Given the description of an element on the screen output the (x, y) to click on. 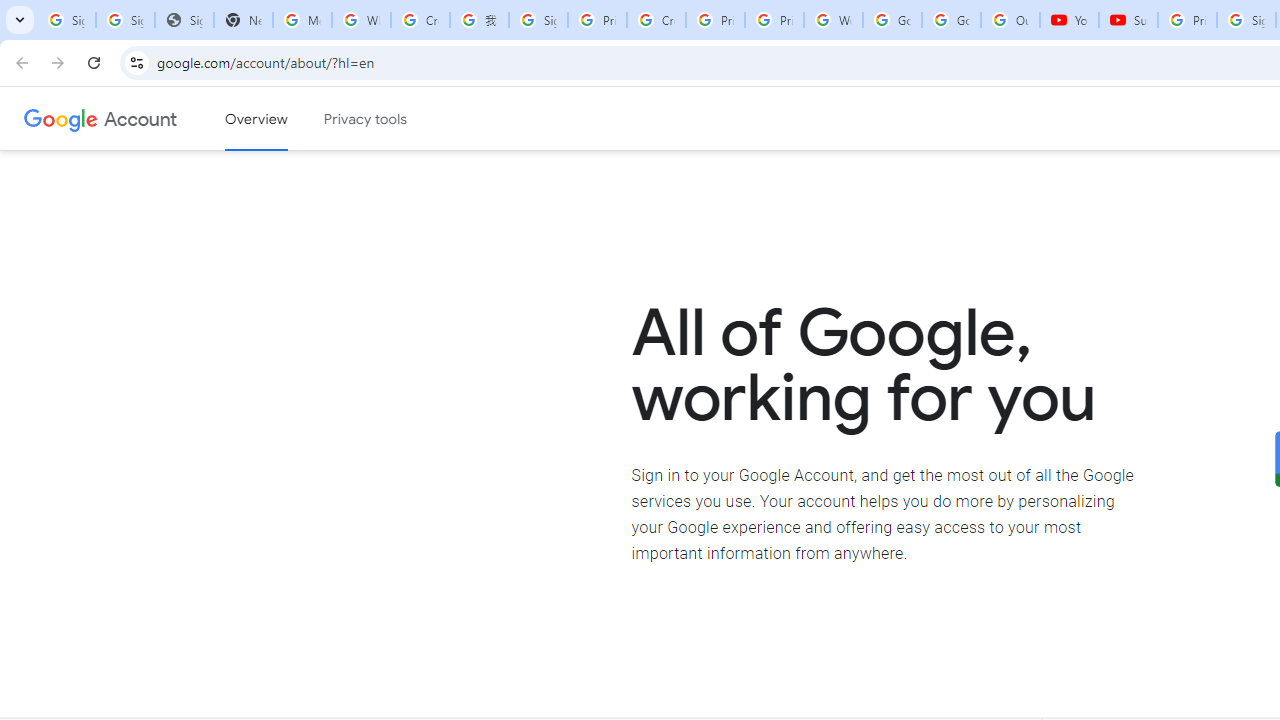
Skip to Content (285, 115)
